Given the description of an element on the screen output the (x, y) to click on. 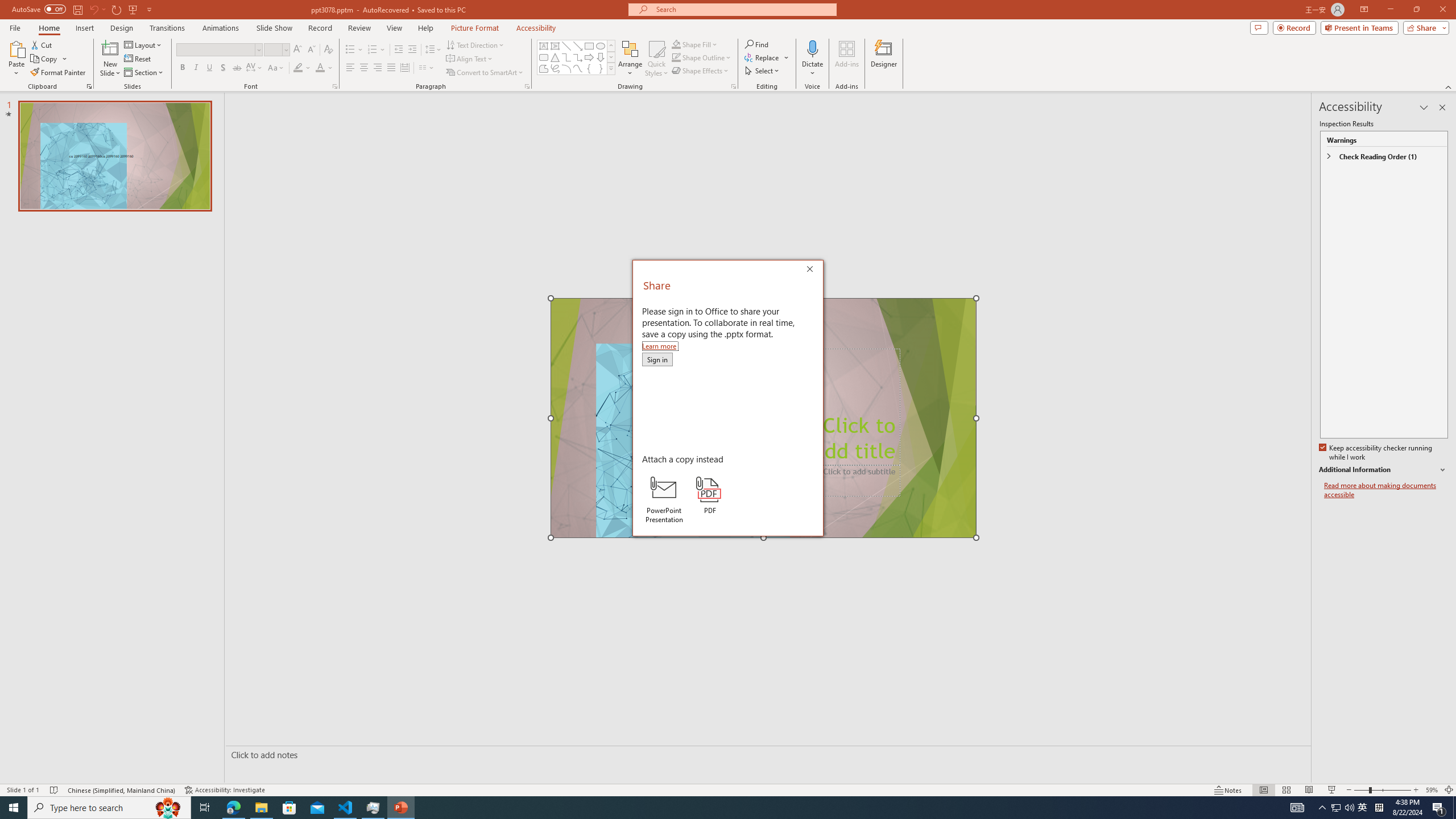
Underline (209, 67)
PowerPoint Presentation (663, 499)
Decrease Font Size (310, 49)
Zoom 59% (1431, 790)
Align Left (349, 67)
Connector: Elbow (566, 57)
Freeform: Scribble (554, 68)
